Given the description of an element on the screen output the (x, y) to click on. 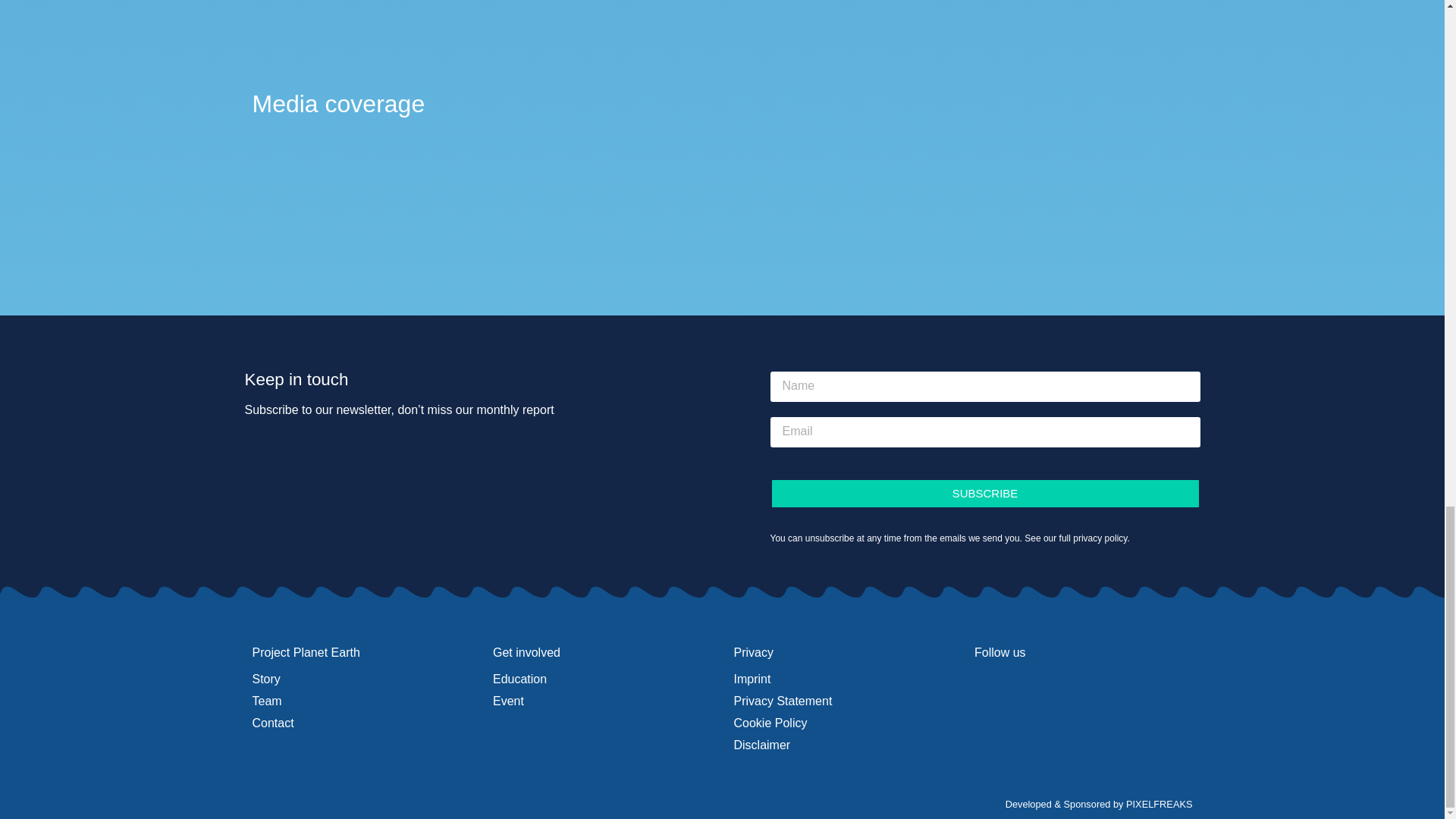
Disclaimer (842, 745)
Team (360, 701)
Education (602, 679)
Cookie Policy (842, 723)
Event (602, 701)
Imprint (842, 679)
SUBSCRIBE (984, 493)
Privacy Statement (842, 701)
Story (360, 679)
Contact (360, 723)
